Given the description of an element on the screen output the (x, y) to click on. 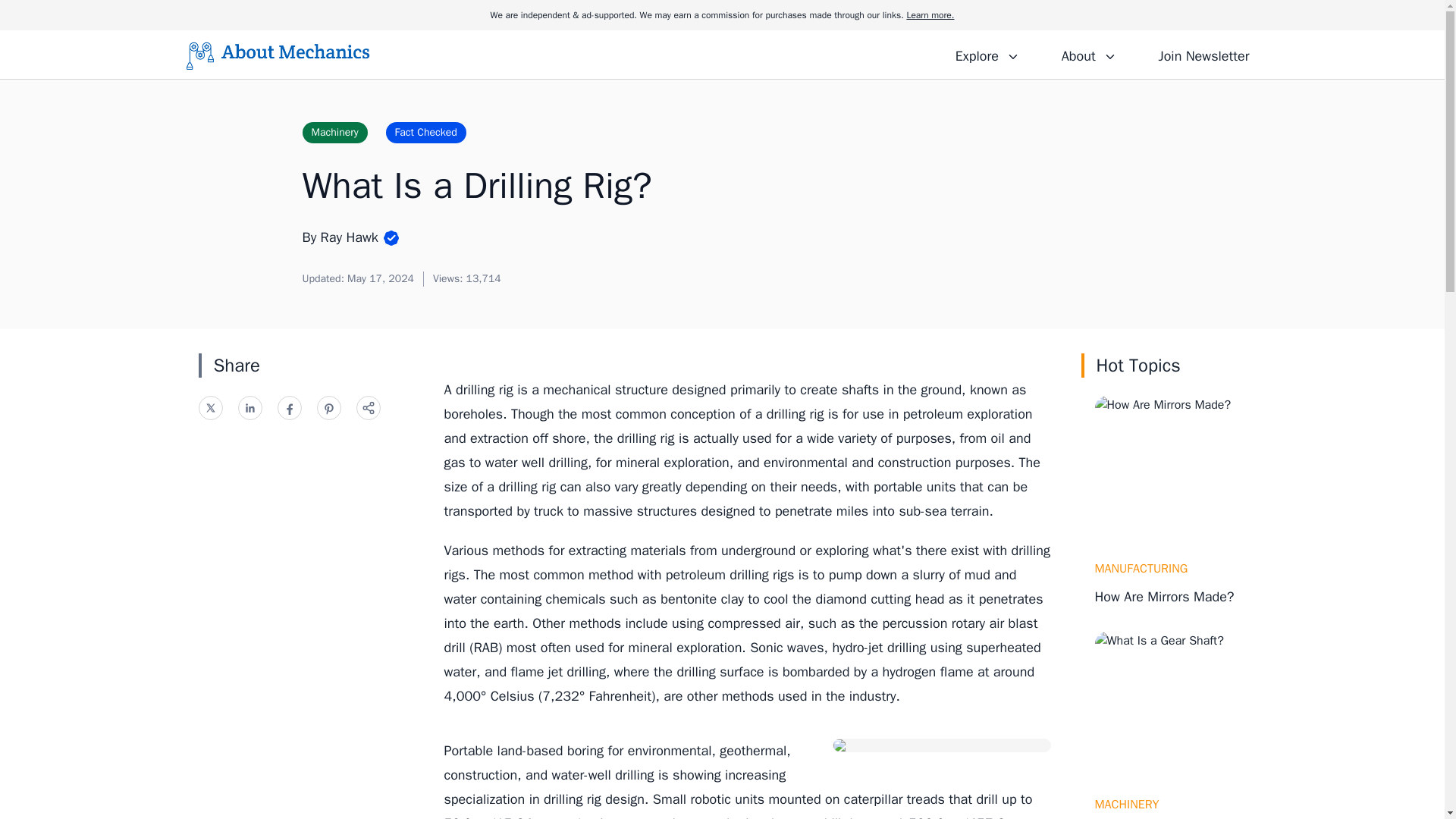
Join Newsletter (1202, 54)
Learn more. (929, 15)
Fact Checked (425, 132)
About (1088, 54)
Explore (986, 54)
Machinery (333, 132)
